Given the description of an element on the screen output the (x, y) to click on. 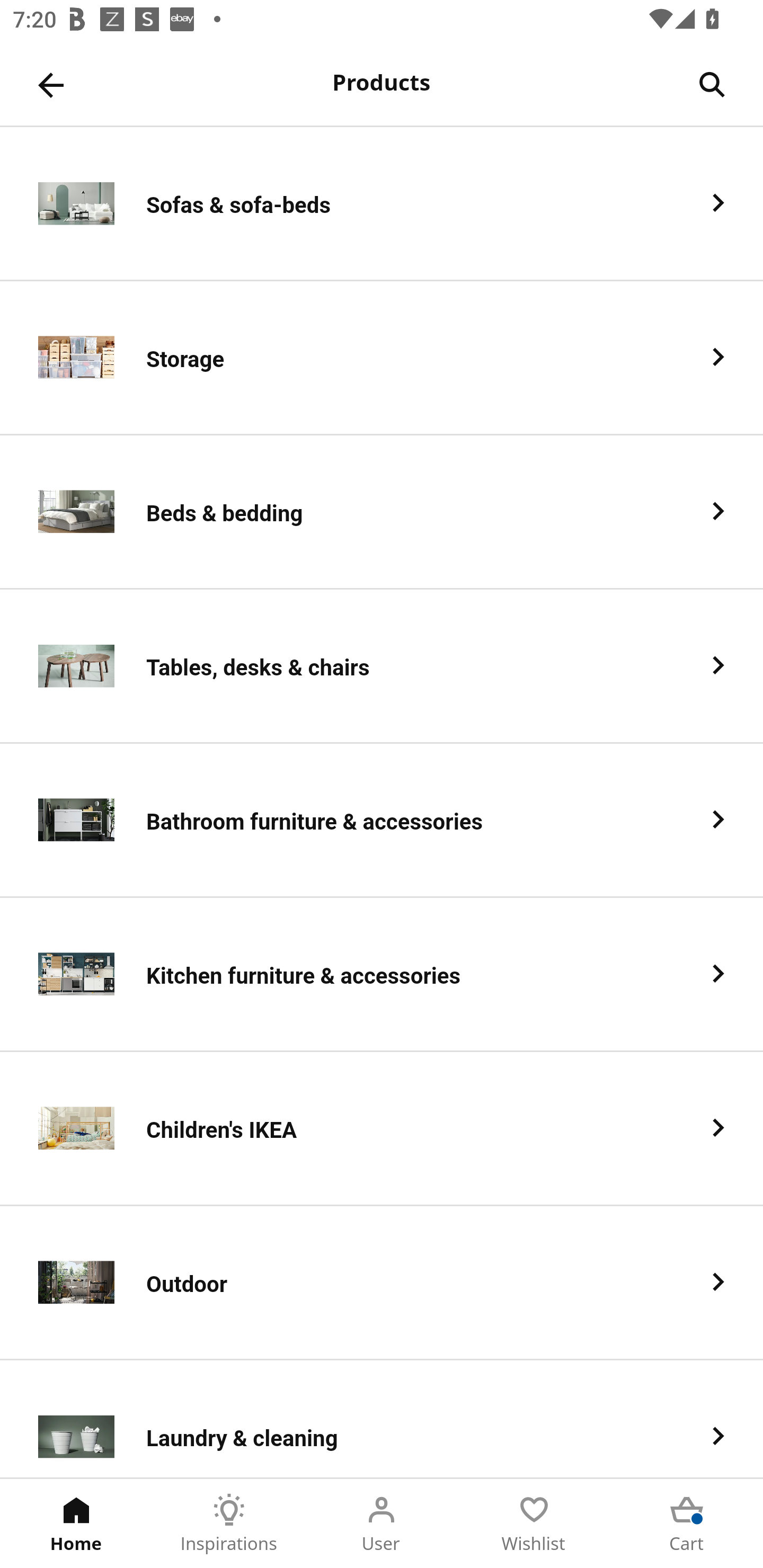
Sofas & sofa-beds (381, 203)
Storage (381, 357)
Beds & bedding (381, 512)
Tables, desks & chairs (381, 666)
Bathroom furniture & accessories (381, 820)
Kitchen furniture & accessories (381, 975)
Children's IKEA (381, 1128)
Outdoor (381, 1283)
Laundry & cleaning (381, 1419)
Home
Tab 1 of 5 (76, 1522)
Inspirations
Tab 2 of 5 (228, 1522)
User
Tab 3 of 5 (381, 1522)
Wishlist
Tab 4 of 5 (533, 1522)
Cart
Tab 5 of 5 (686, 1522)
